Given the description of an element on the screen output the (x, y) to click on. 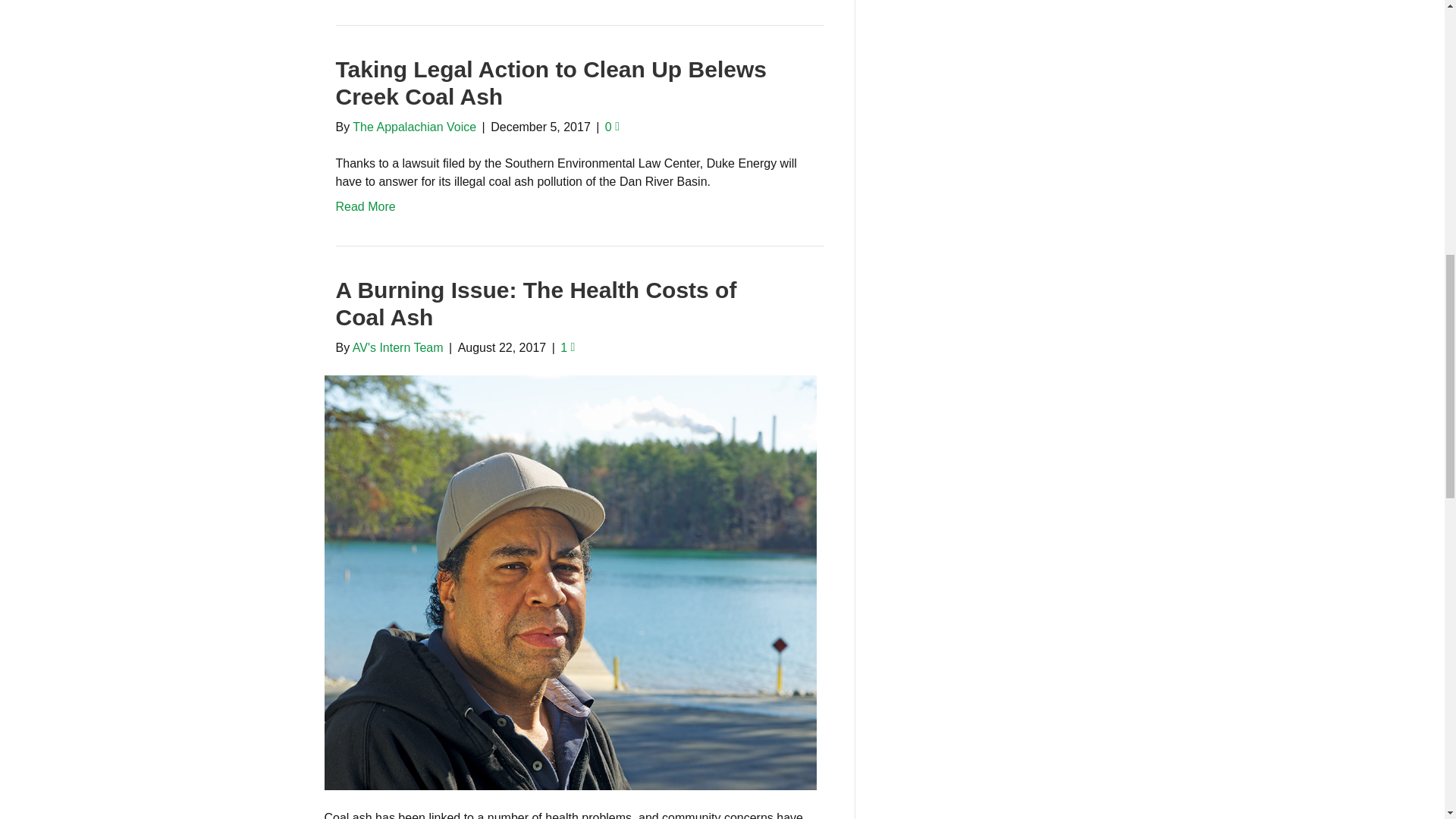
A Burning Issue: The Health Costs of Coal Ash (570, 581)
A Burning Issue: The Health Costs of Coal Ash (535, 303)
Taking Legal Action to Clean Up Belews Creek Coal Ash (549, 82)
